Given the description of an element on the screen output the (x, y) to click on. 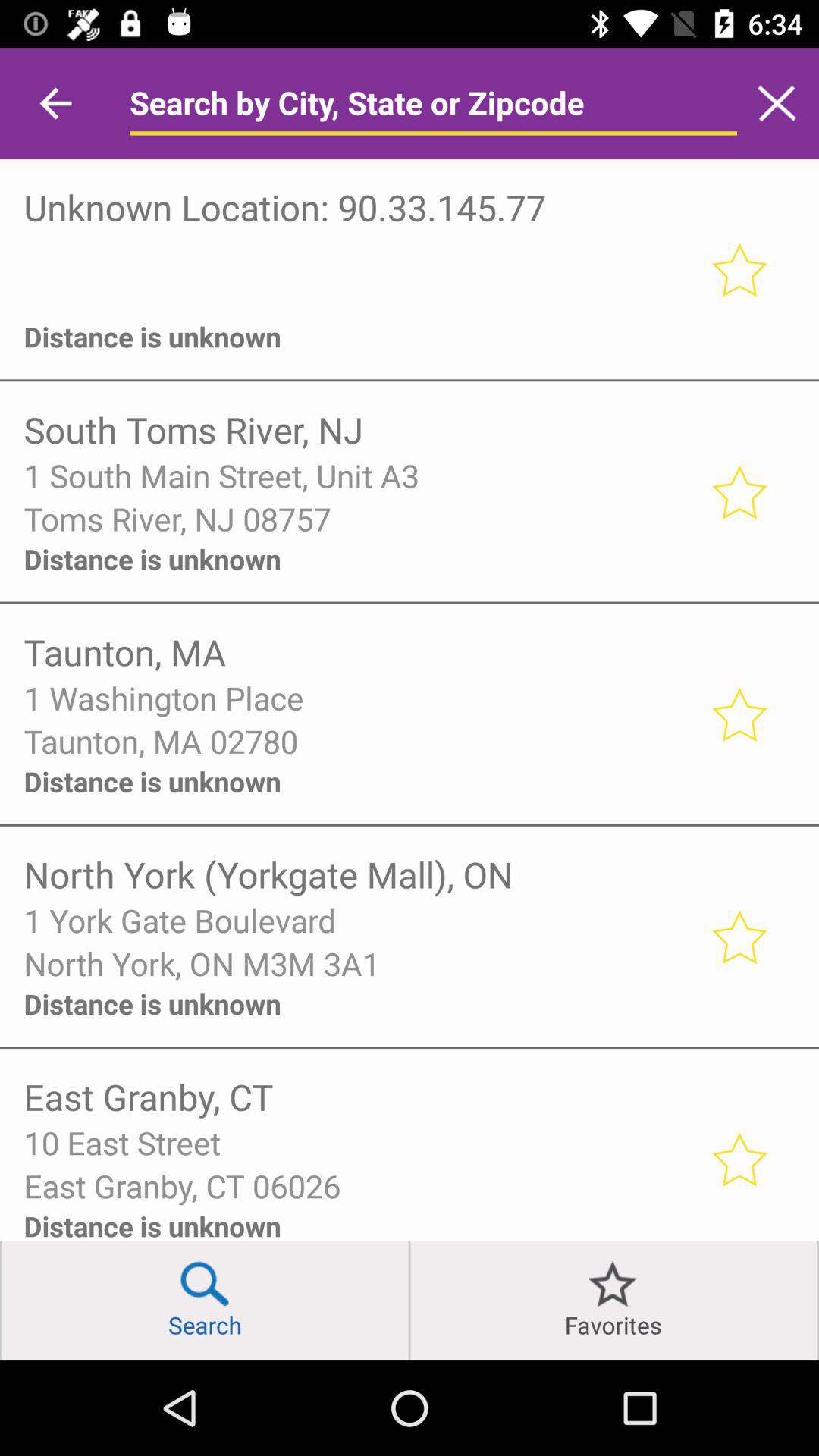
launch item to the right of favorites item (817, 1300)
